Given the description of an element on the screen output the (x, y) to click on. 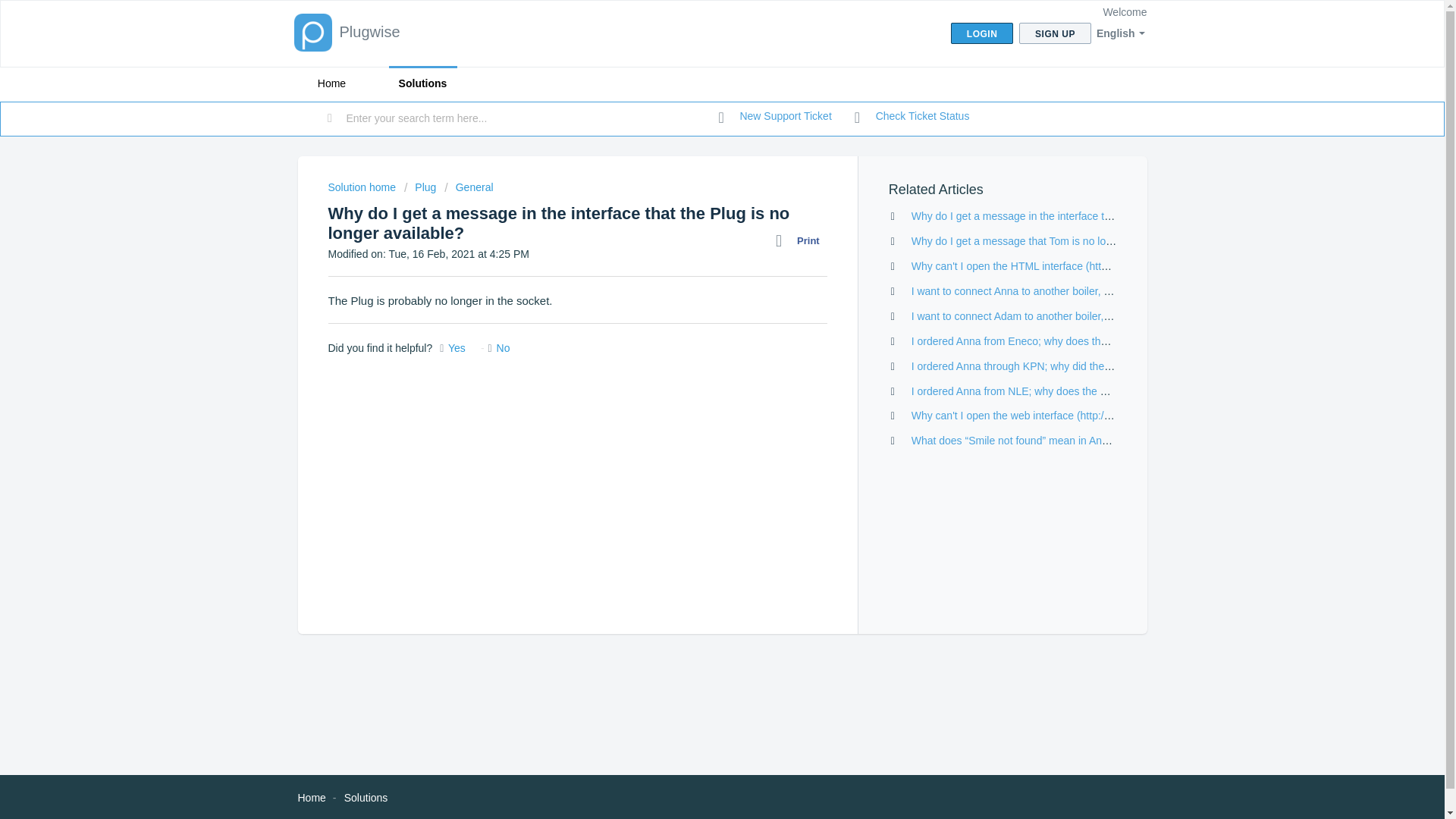
New support ticket (775, 116)
Home (310, 797)
Check Ticket Status (911, 116)
Check ticket status (911, 116)
Solutions (422, 83)
SIGN UP (1054, 33)
I ordered Anna from NLE; why does the app not work? (1039, 390)
Home (331, 83)
LOGIN (981, 33)
New Support Ticket (775, 116)
General (468, 186)
Print (801, 240)
Why do I get a message that Tom is no longer available? (1044, 241)
